Given the description of an element on the screen output the (x, y) to click on. 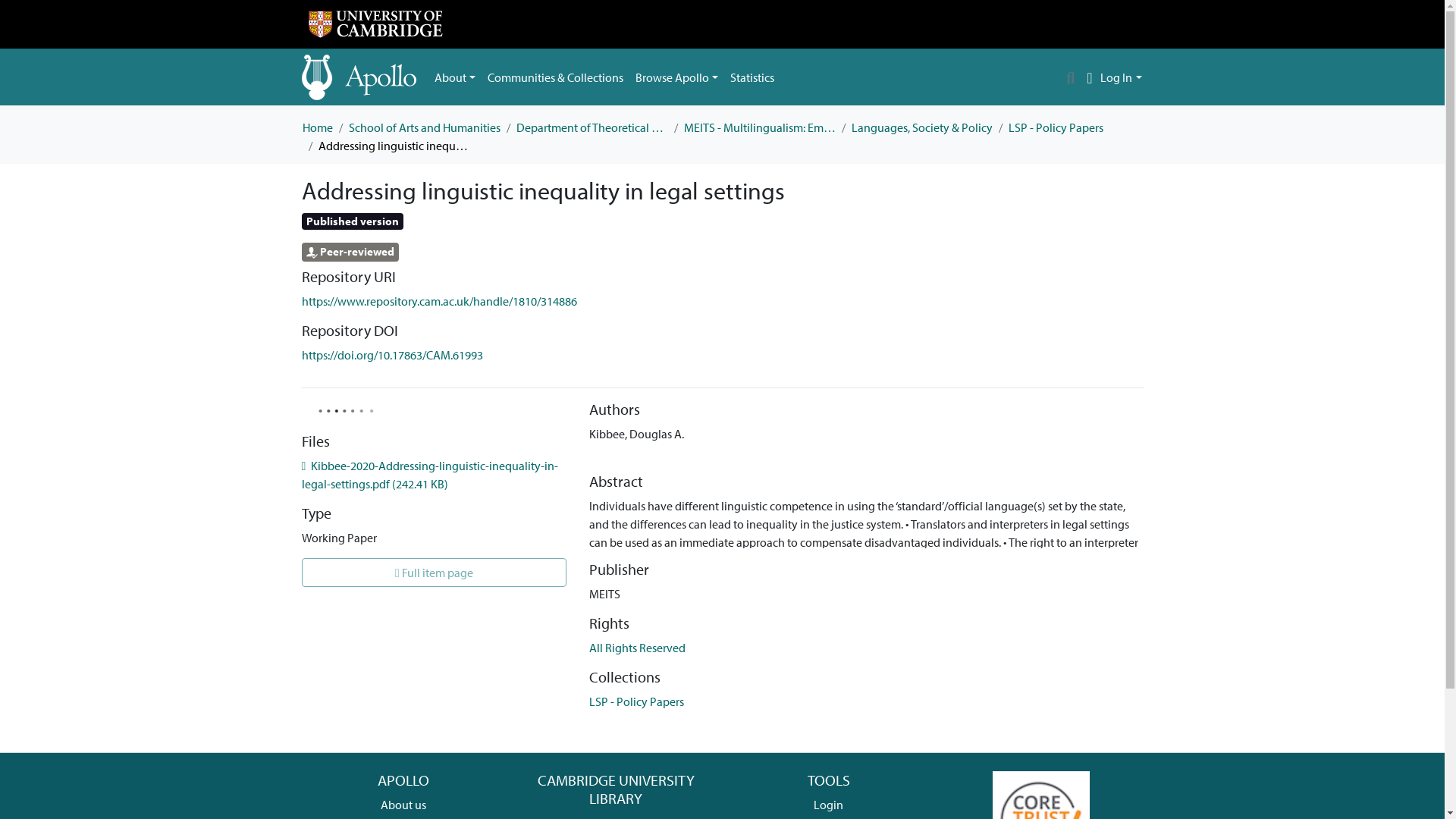
LSP - Policy Papers (636, 701)
Browse Apollo (675, 77)
About (454, 77)
Search (1070, 76)
School of Arts and Humanities (424, 126)
All Rights Reserved (637, 647)
Log In (1120, 77)
Contact us (403, 816)
Statistics (751, 77)
Home (316, 126)
LSP - Policy Papers (1056, 126)
Accessibility (615, 816)
Full item page (434, 572)
Statistics (751, 77)
Language switch (1089, 76)
